Given the description of an element on the screen output the (x, y) to click on. 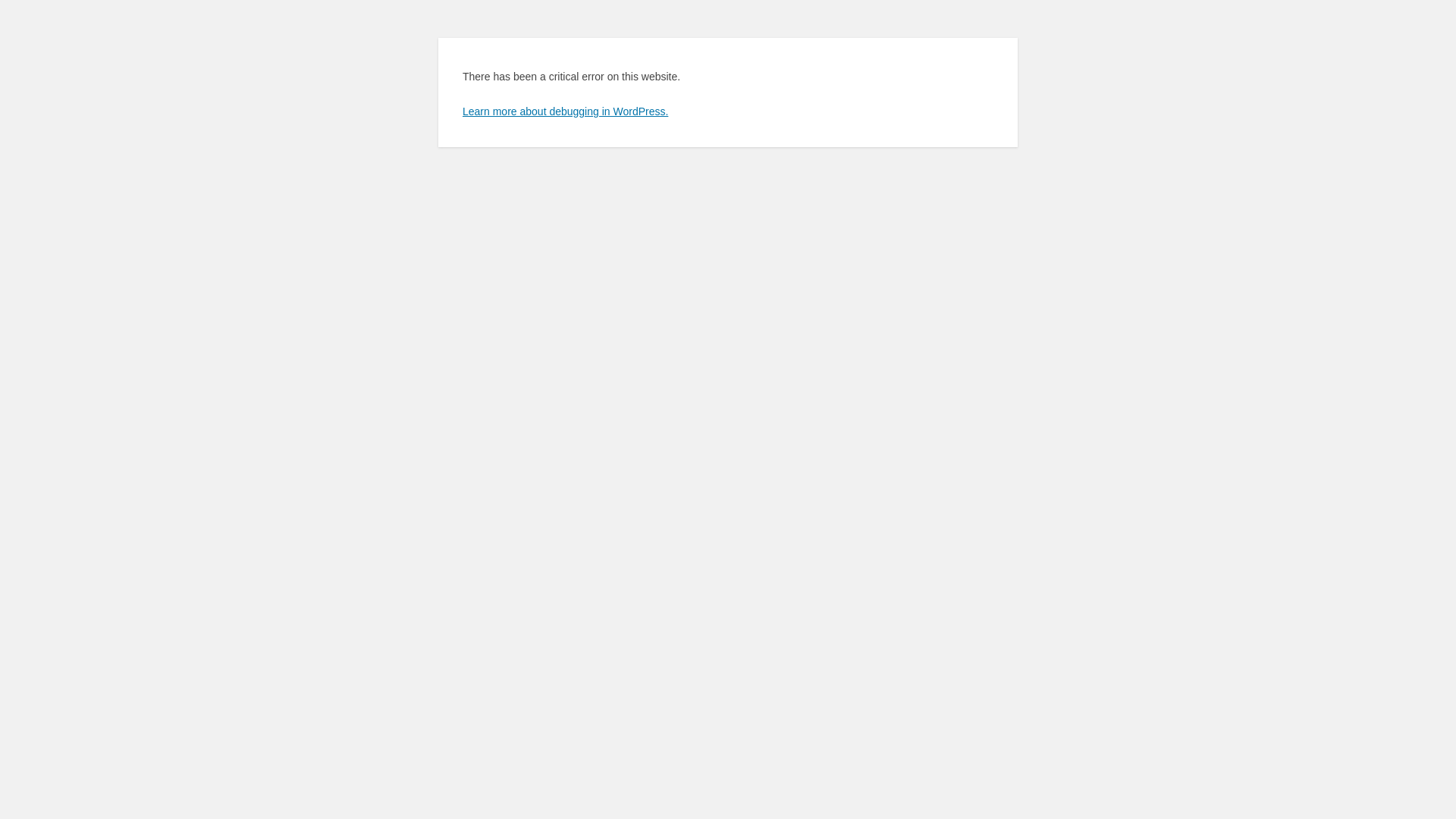
Learn more about debugging in WordPress. Element type: text (565, 111)
